Given the description of an element on the screen output the (x, y) to click on. 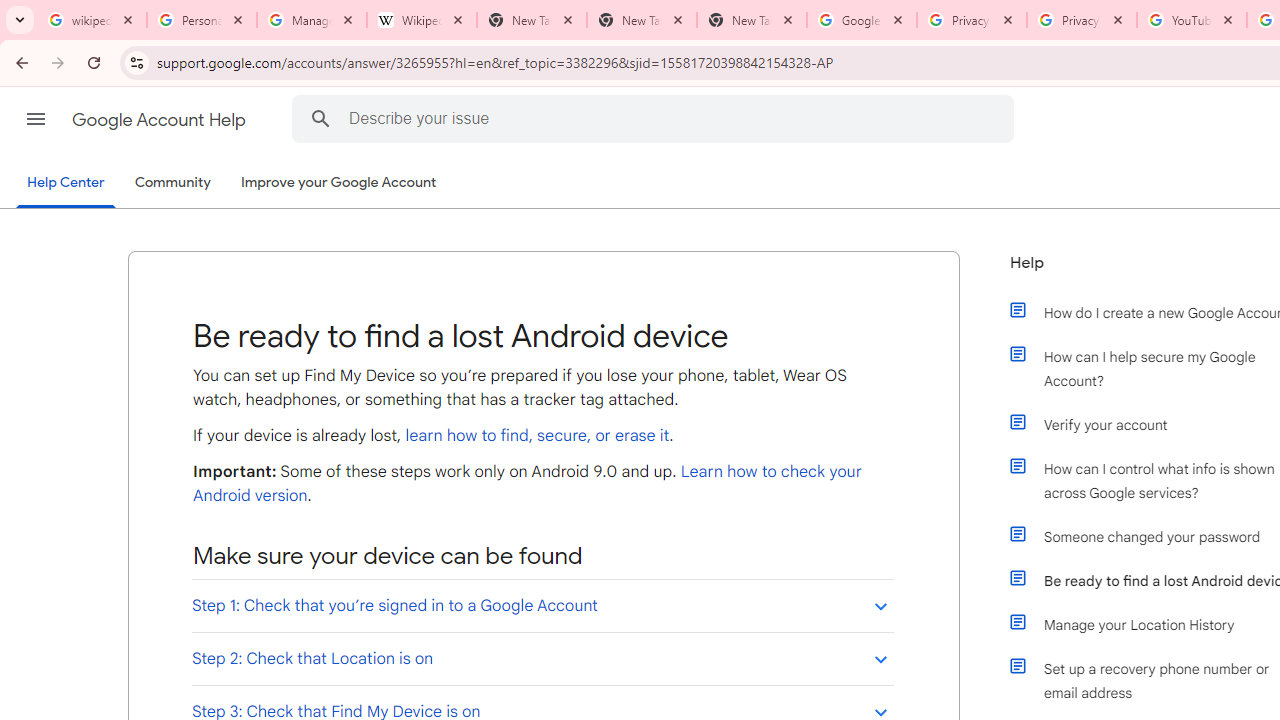
Describe your issue (655, 118)
New Tab (642, 20)
Google Account Help (160, 119)
Wikipedia:Edit requests - Wikipedia (422, 20)
New Tab (752, 20)
Step 2: Check that Location is on (542, 658)
Community (171, 183)
YouTube (1191, 20)
Google Drive: Sign-in (861, 20)
